Given the description of an element on the screen output the (x, y) to click on. 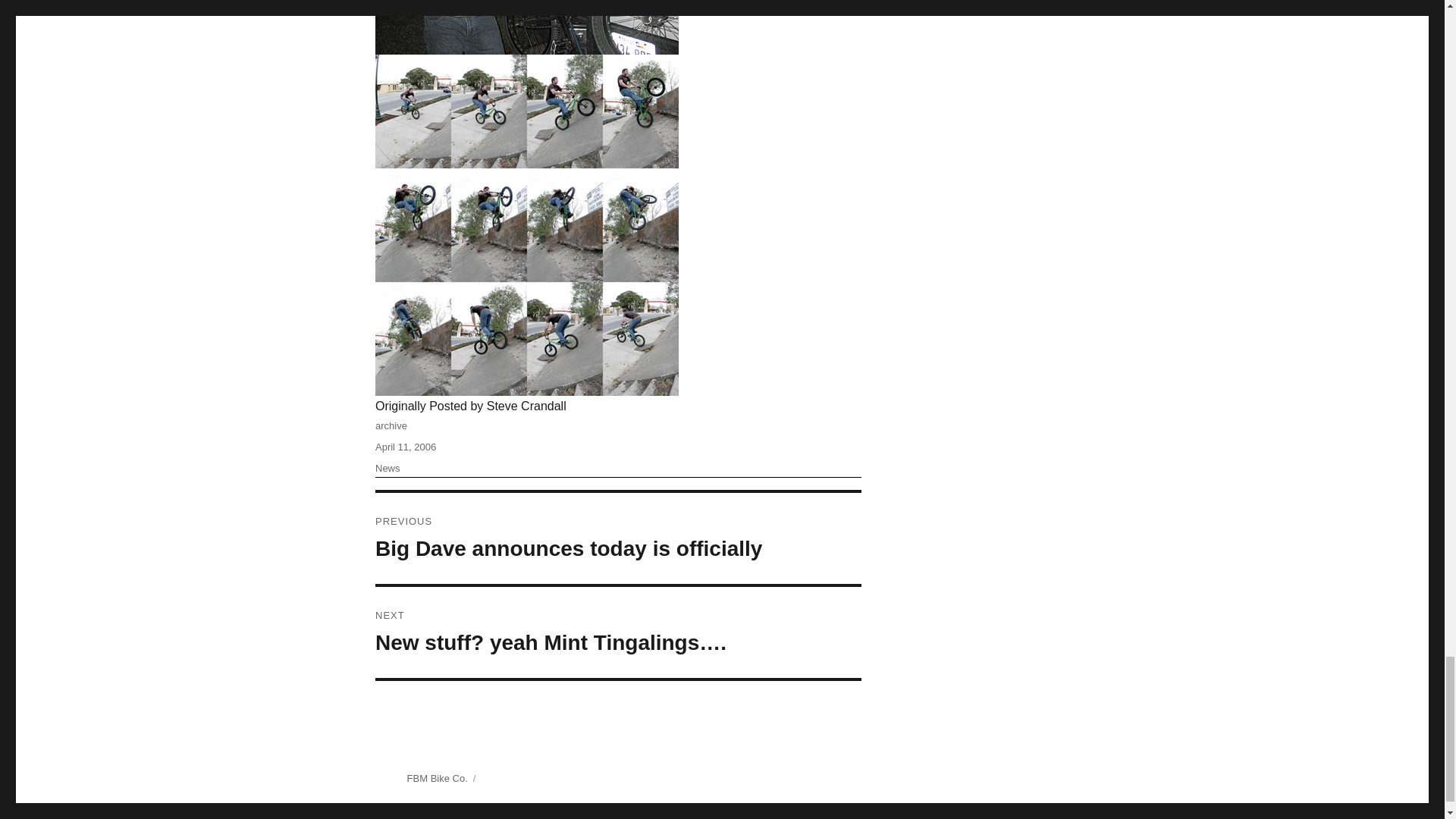
FBM Bike Co. (437, 778)
archive (391, 425)
April 11, 2006 (405, 446)
News (387, 468)
